Given the description of an element on the screen output the (x, y) to click on. 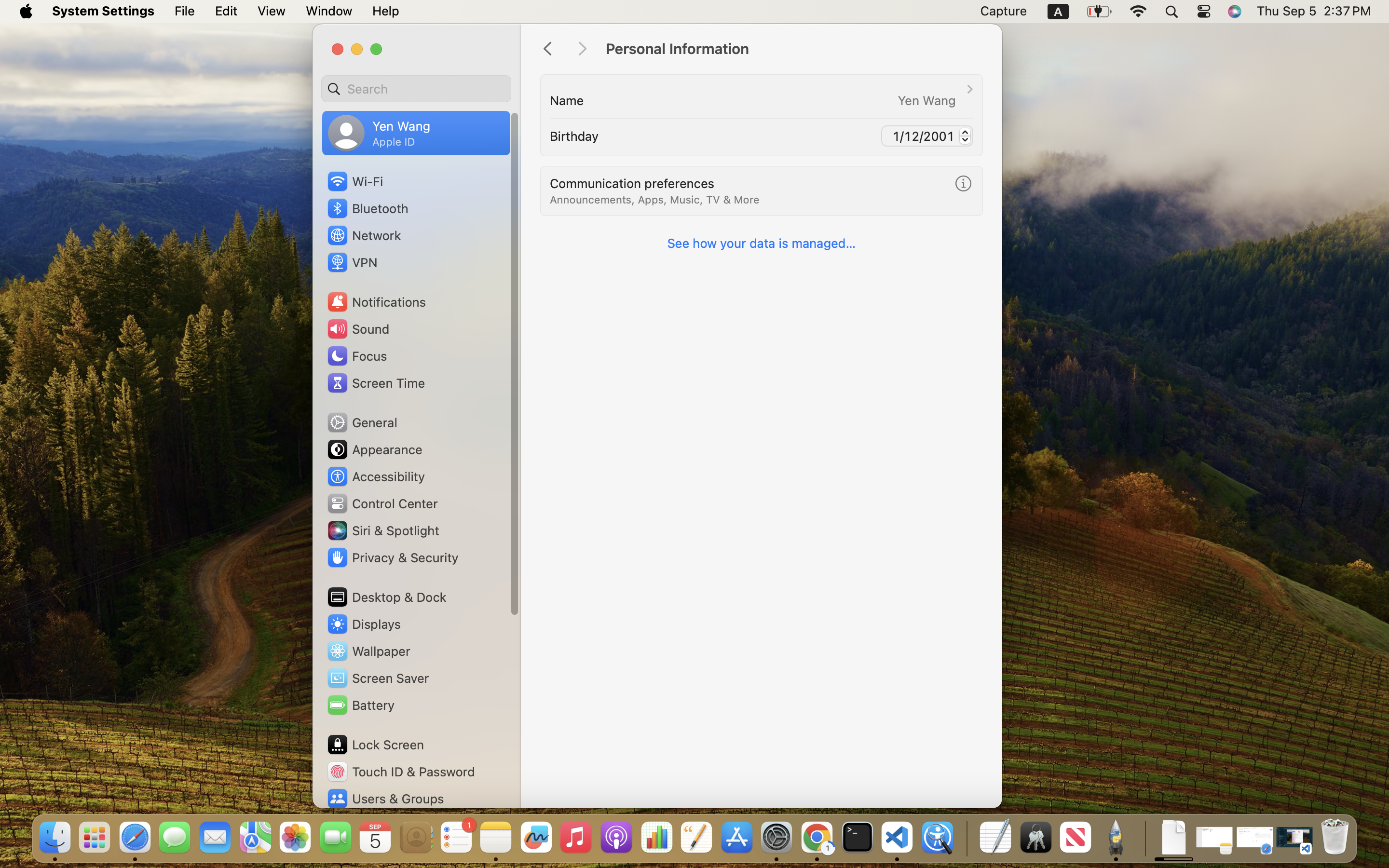
Yen Wang, Apple ID Element type: AXStaticText (378, 132)
Wi‑Fi Element type: AXStaticText (354, 180)
Battery Element type: AXStaticText (360, 704)
Desktop & Dock Element type: AXStaticText (386, 596)
Bluetooth Element type: AXStaticText (367, 207)
